Given the description of an element on the screen output the (x, y) to click on. 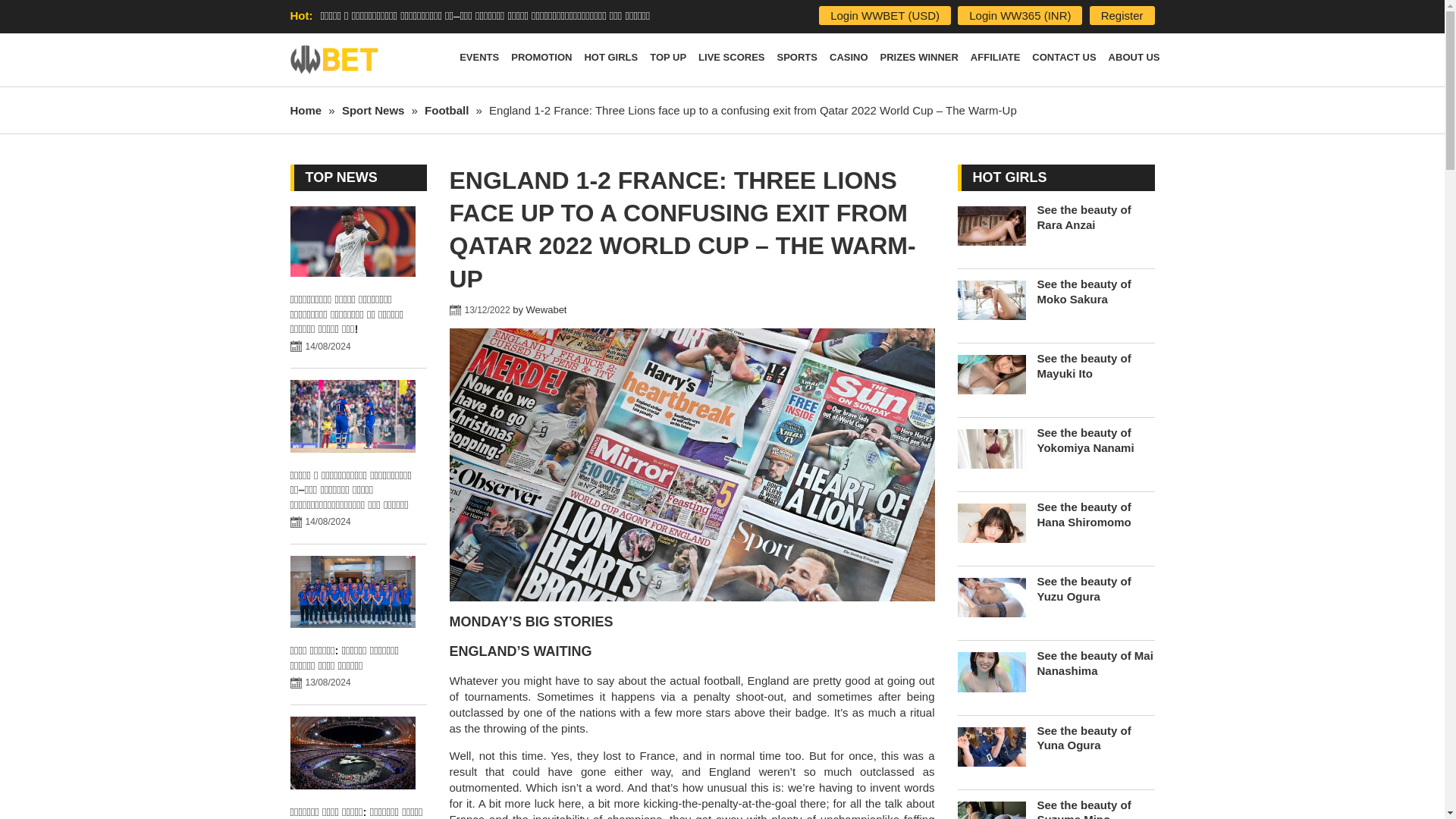
HOT GIRLS (610, 59)
Register (1121, 15)
LIVE SCORES (731, 59)
PROMOTION (541, 59)
